Given the description of an element on the screen output the (x, y) to click on. 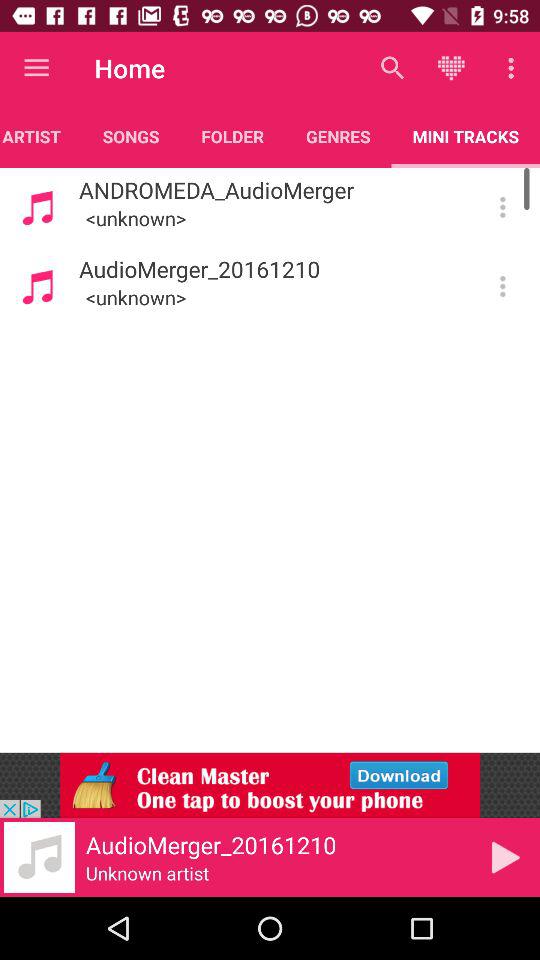
next song (505, 857)
